Given the description of an element on the screen output the (x, y) to click on. 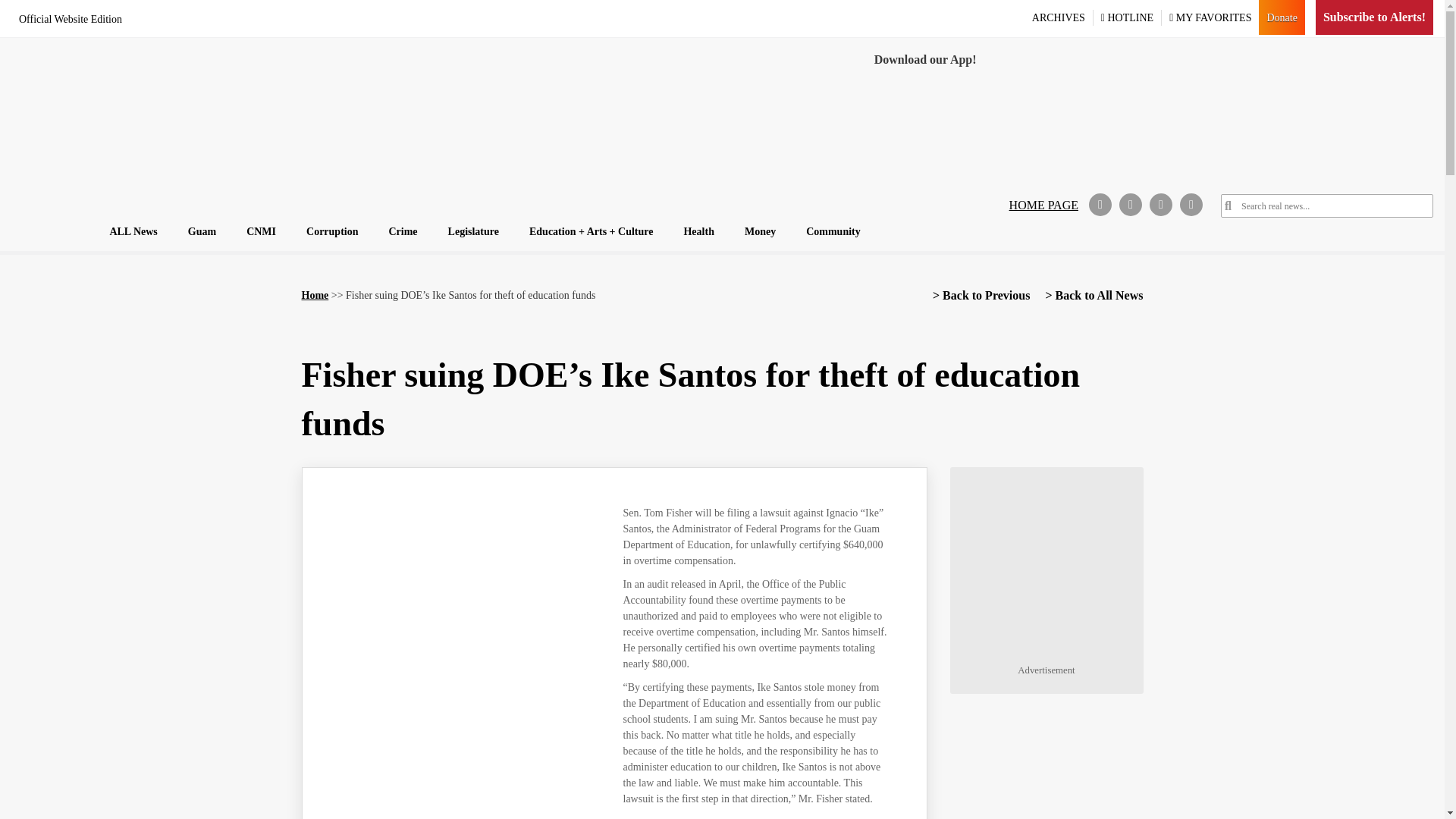
Community (832, 231)
MY FAVORITES (1209, 17)
Money (759, 231)
CNMI (260, 231)
ALL News (132, 231)
Corruption (331, 231)
HOTLINE (1128, 17)
HOME PAGE (1043, 205)
Donate (1281, 17)
Subscribe to Alerts! (1374, 17)
Health (697, 231)
Guam (202, 231)
ARCHIVES (1060, 17)
Crime (402, 231)
Legislature (473, 231)
